Given the description of an element on the screen output the (x, y) to click on. 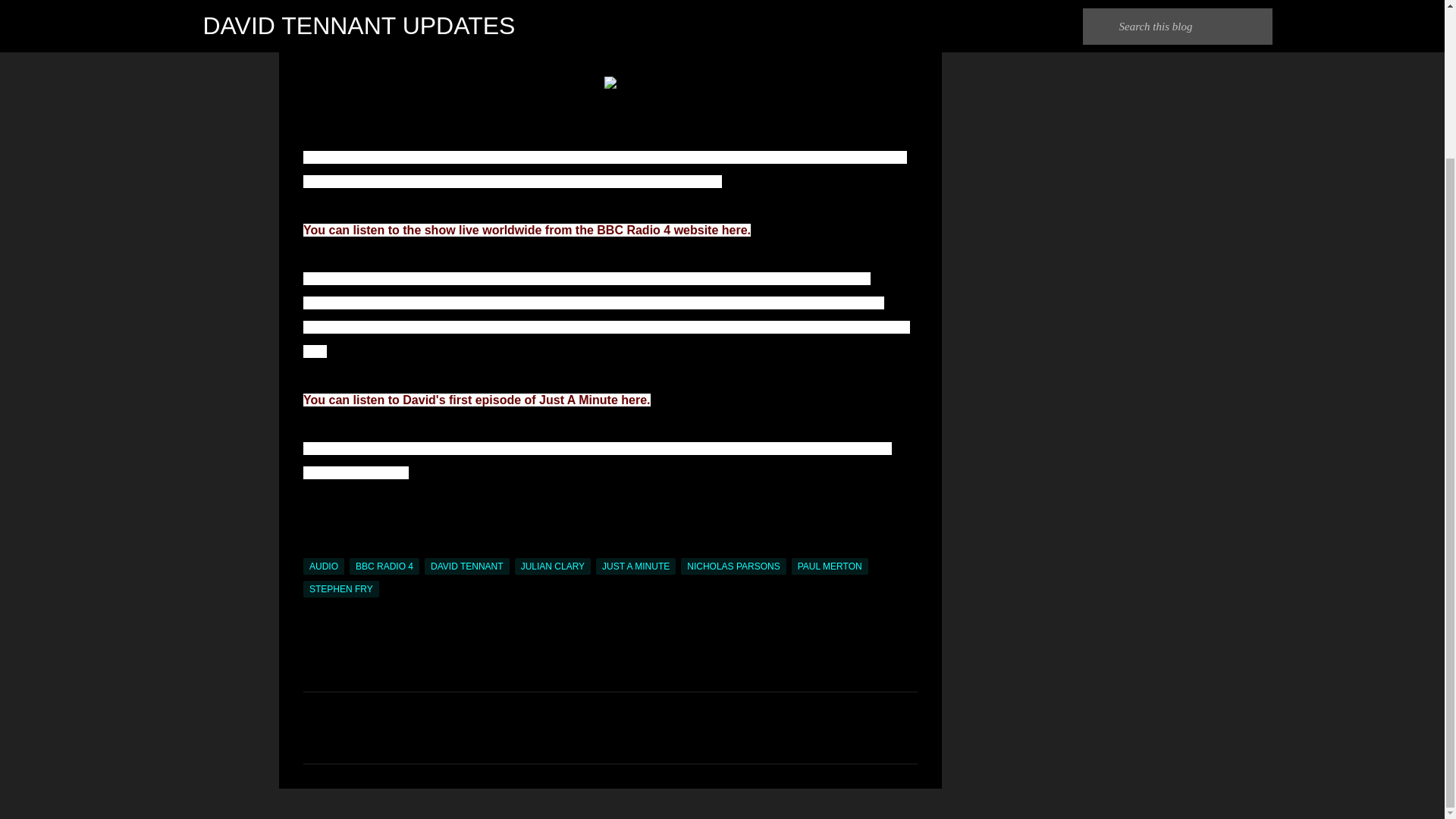
AUDIO (322, 565)
Email Post (311, 548)
JULIAN CLARY (553, 565)
STEPHEN FRY (340, 588)
PAUL MERTON (829, 565)
JUST A MINUTE (635, 565)
DAVID TENNANT (467, 565)
permanent link (343, 2)
NICHOLAS PARSONS (733, 565)
March 30, 2015 (343, 2)
BBC RADIO 4 (384, 565)
